Given the description of an element on the screen output the (x, y) to click on. 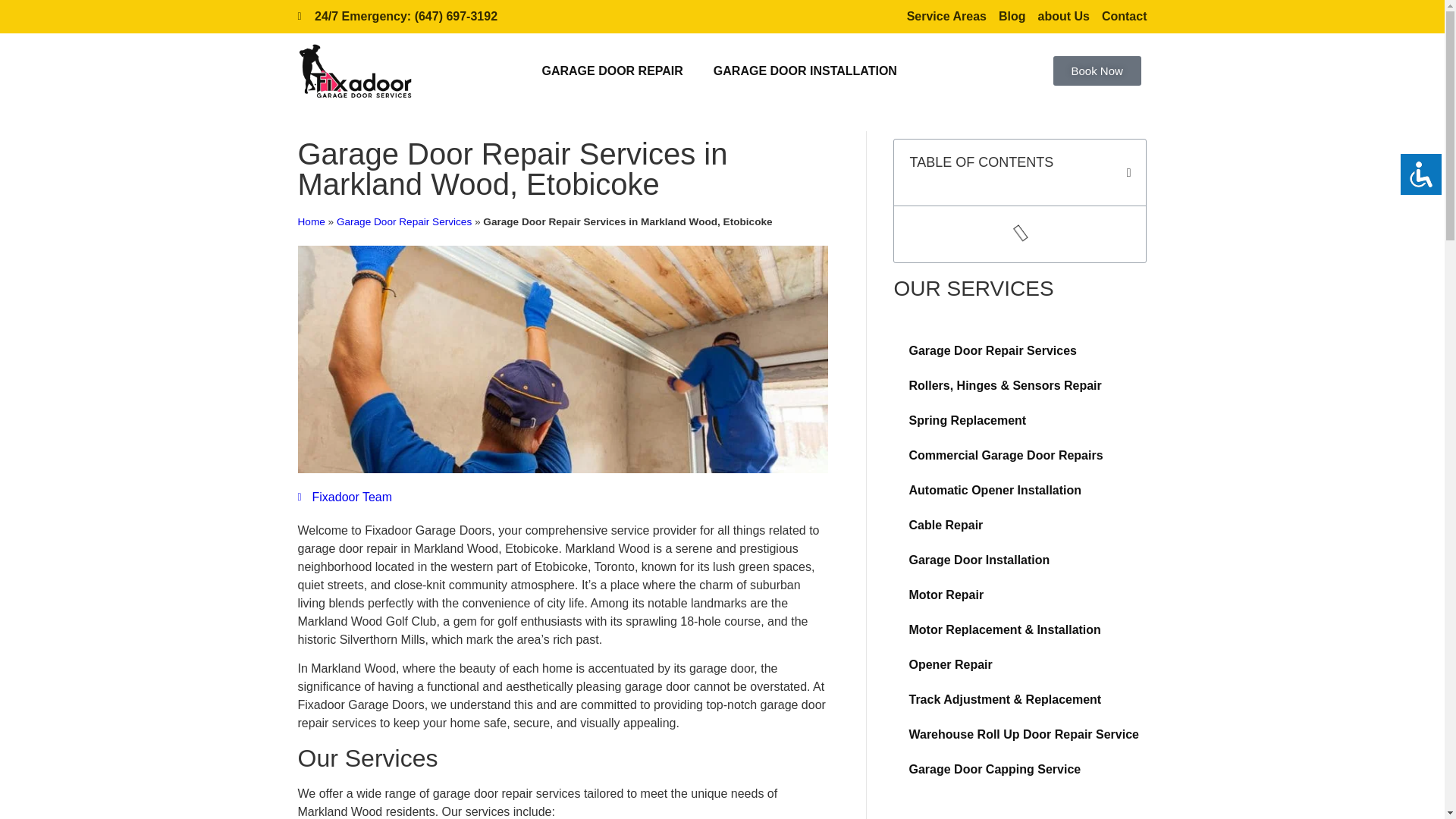
Book Now (1096, 70)
Home (310, 221)
about Us (1062, 16)
Contact (1124, 16)
GARAGE DOOR INSTALLATION (805, 71)
GARAGE DOOR REPAIR (611, 71)
Garage Door Repair Services (403, 221)
Blog (1012, 16)
Service Areas (947, 16)
